Given the description of an element on the screen output the (x, y) to click on. 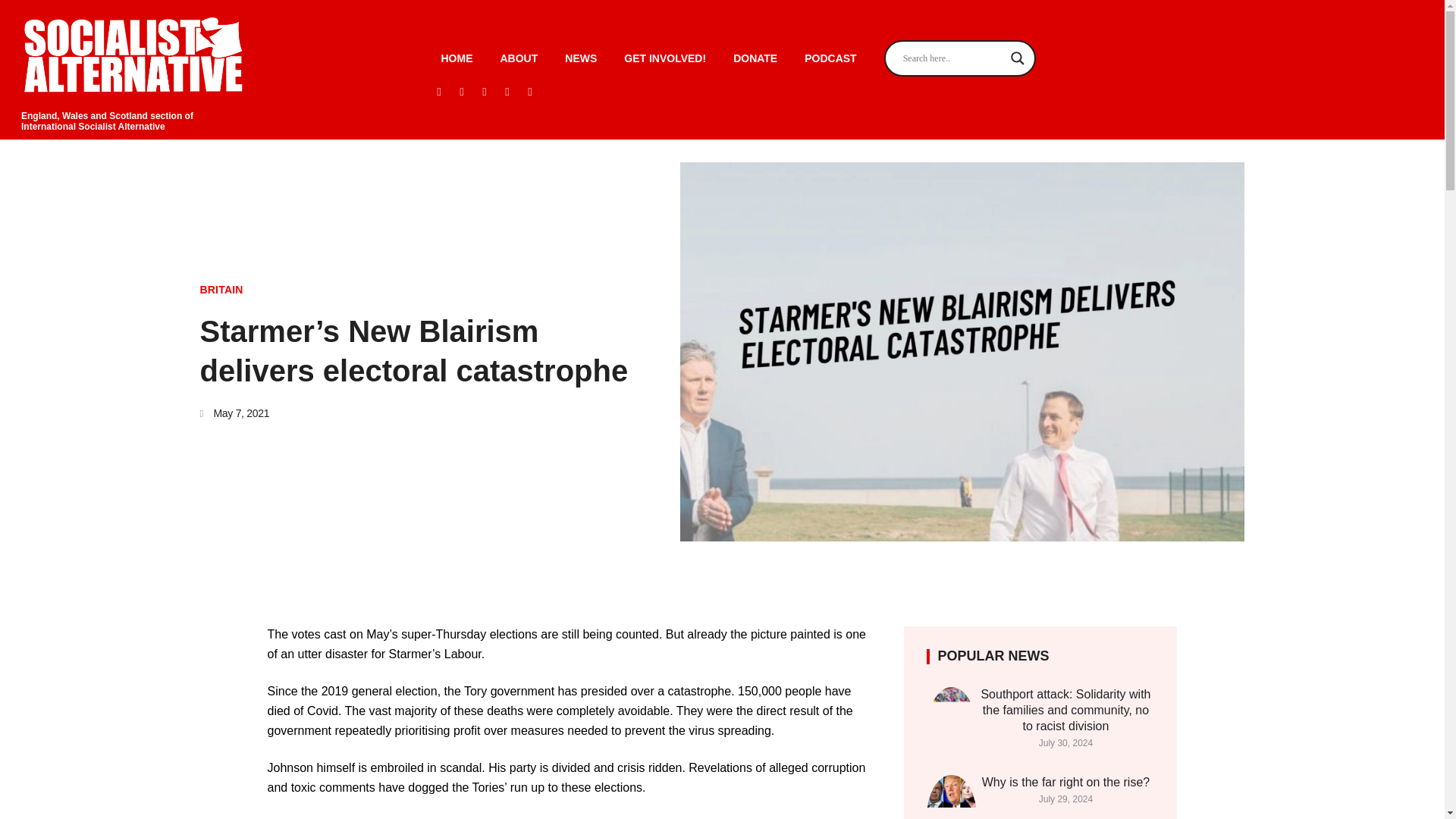
International Socialist Alternative (93, 126)
ABOUT (519, 58)
GET INVOLVED! (664, 58)
PODCAST (829, 58)
DONATE (754, 58)
